Given the description of an element on the screen output the (x, y) to click on. 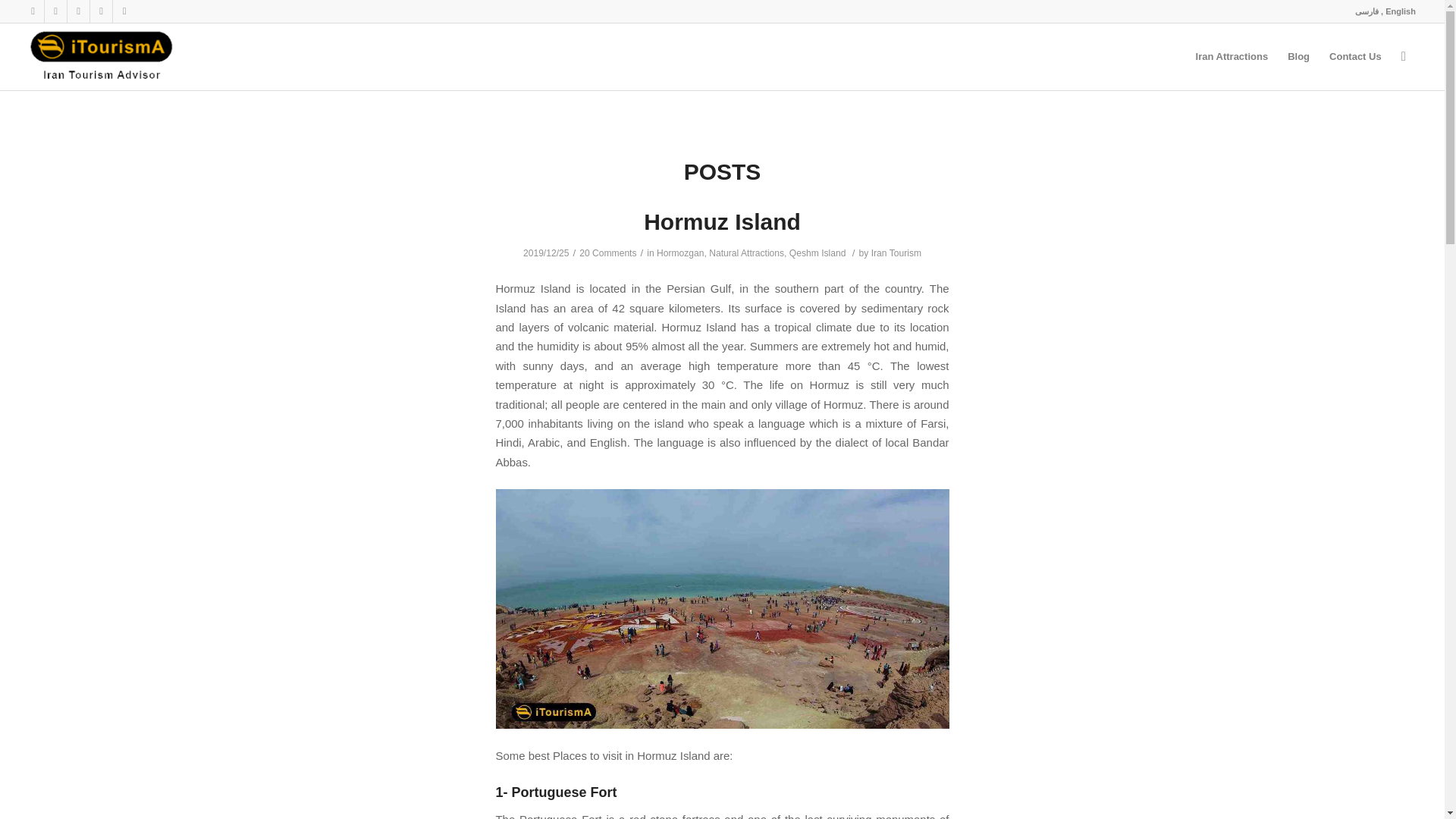
Facebook (77, 11)
Instagram (32, 11)
Iran Attractions (1232, 56)
Permanent Link: Hormuz Island (721, 221)
Twitter (101, 11)
Posts by Iran Tourism (895, 253)
English (1400, 10)
Pinterest (55, 11)
LinkedIn (124, 11)
